Given the description of an element on the screen output the (x, y) to click on. 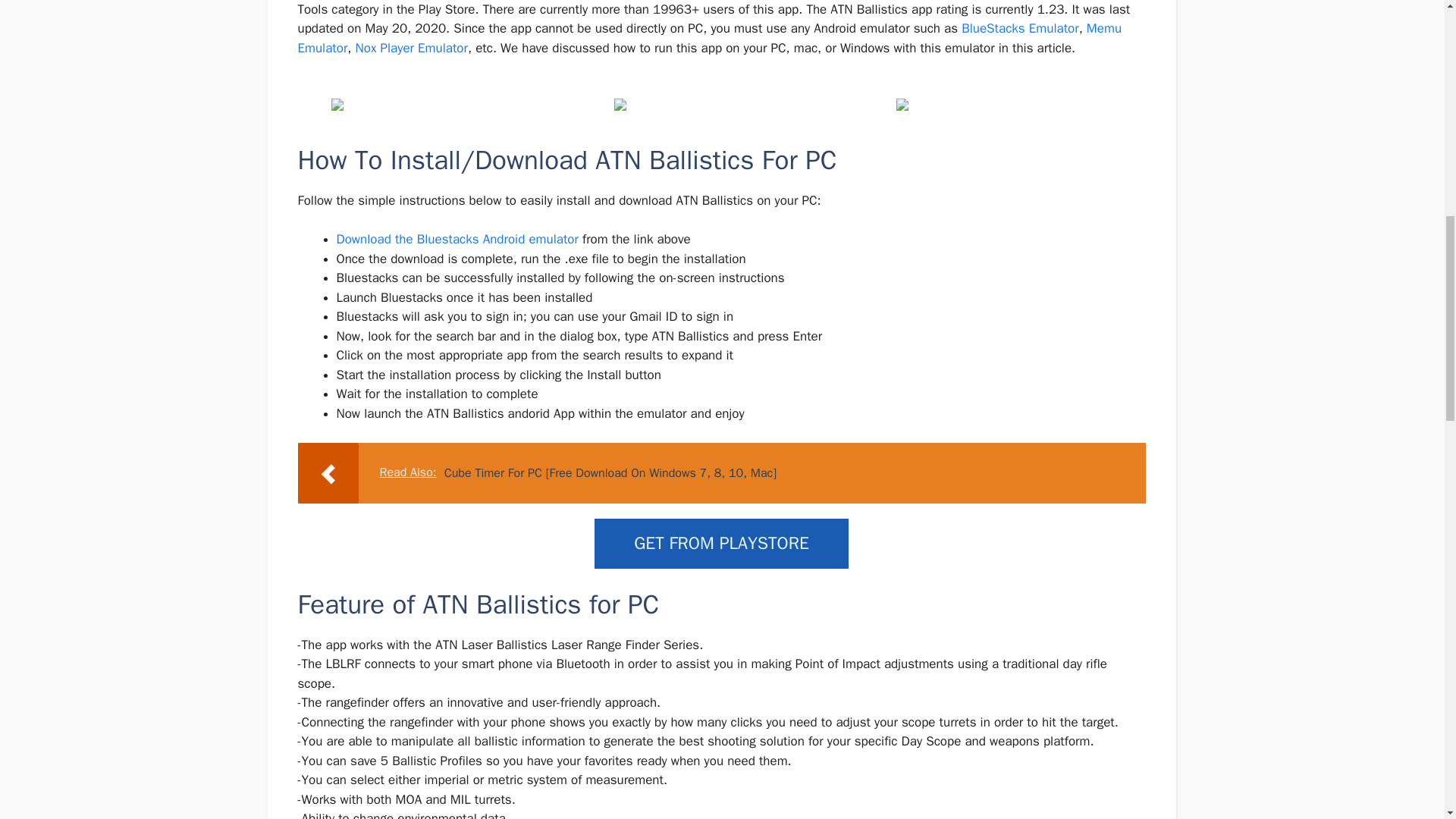
Download the Bluestacks Android emulator (459, 238)
GET FROM PLAYSTORE (721, 543)
Memu Emulator (709, 38)
Nox Player Emulator (411, 48)
BlueStacks Emulator (1019, 28)
GET FROM PLAYSTORE (721, 543)
